Given the description of an element on the screen output the (x, y) to click on. 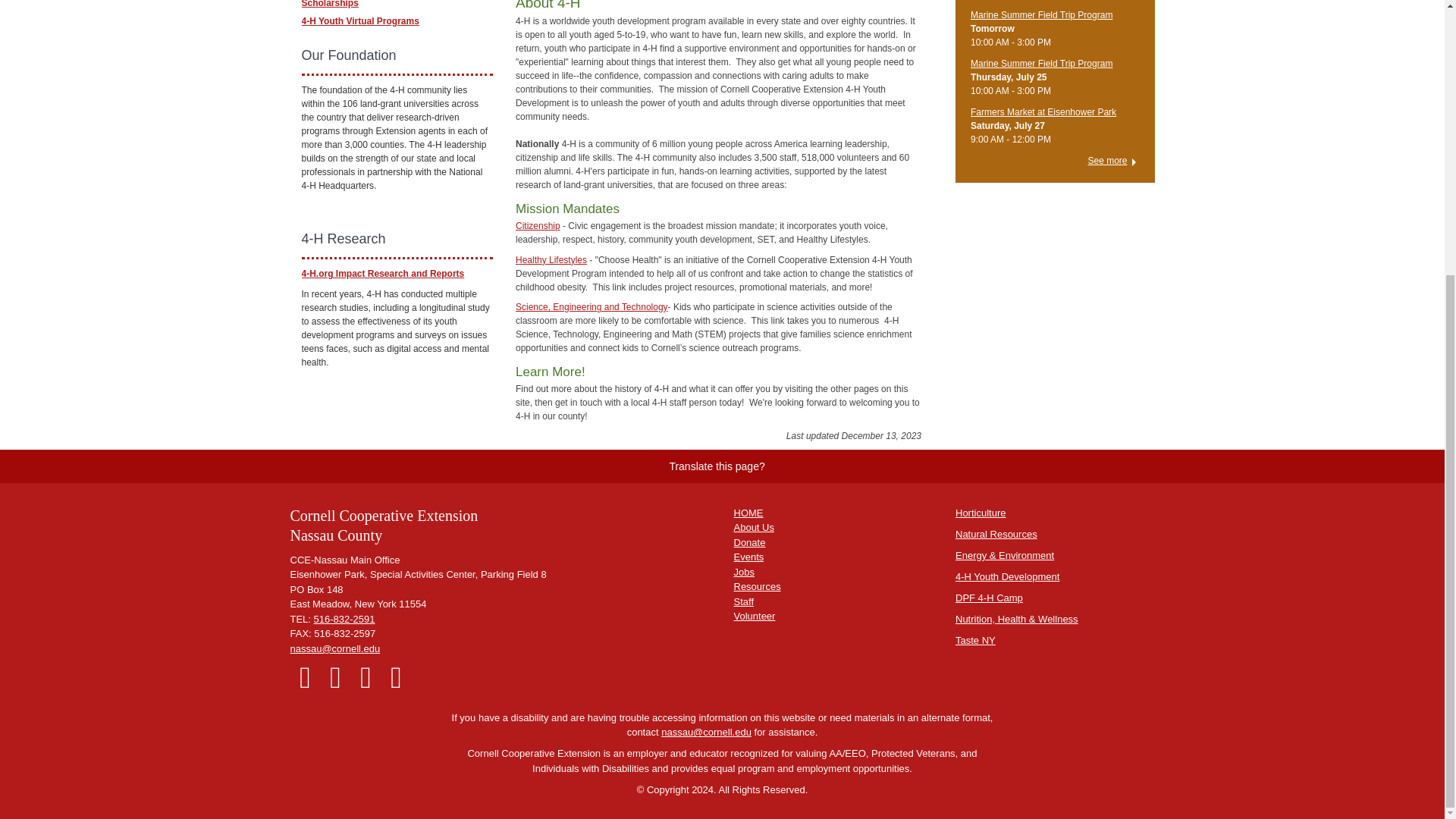
Healthy Lifestyles (550, 259)
Citizenship (537, 225)
Science, Engineering and Technology (591, 307)
SET (591, 307)
Choose Health (550, 259)
